Given the description of an element on the screen output the (x, y) to click on. 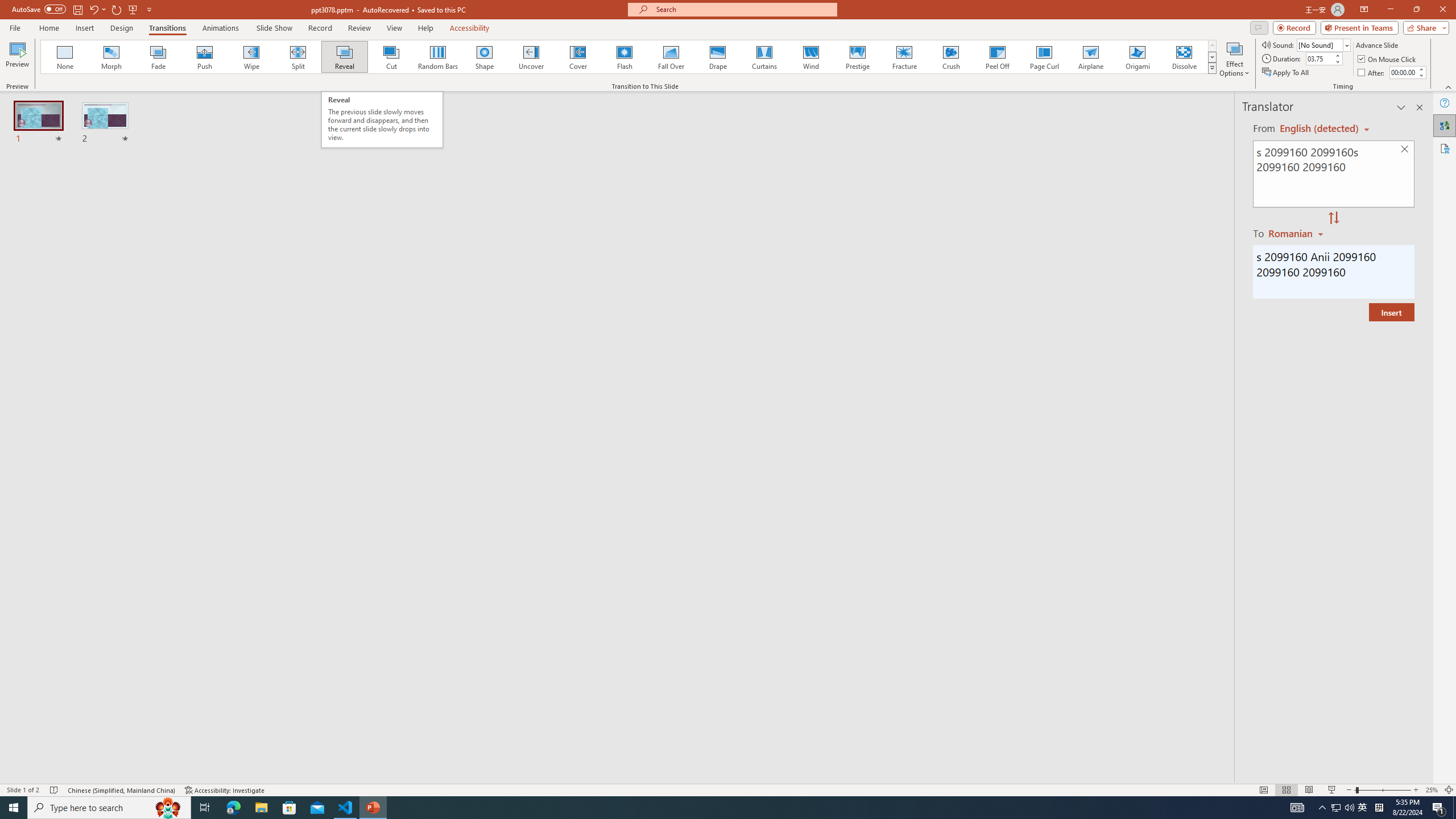
Dissolve (1183, 56)
Sound (1324, 44)
Split (298, 56)
Cover (577, 56)
Drape (717, 56)
Czech (detected) (1319, 128)
Shape (484, 56)
Reveal (344, 56)
